Given the description of an element on the screen output the (x, y) to click on. 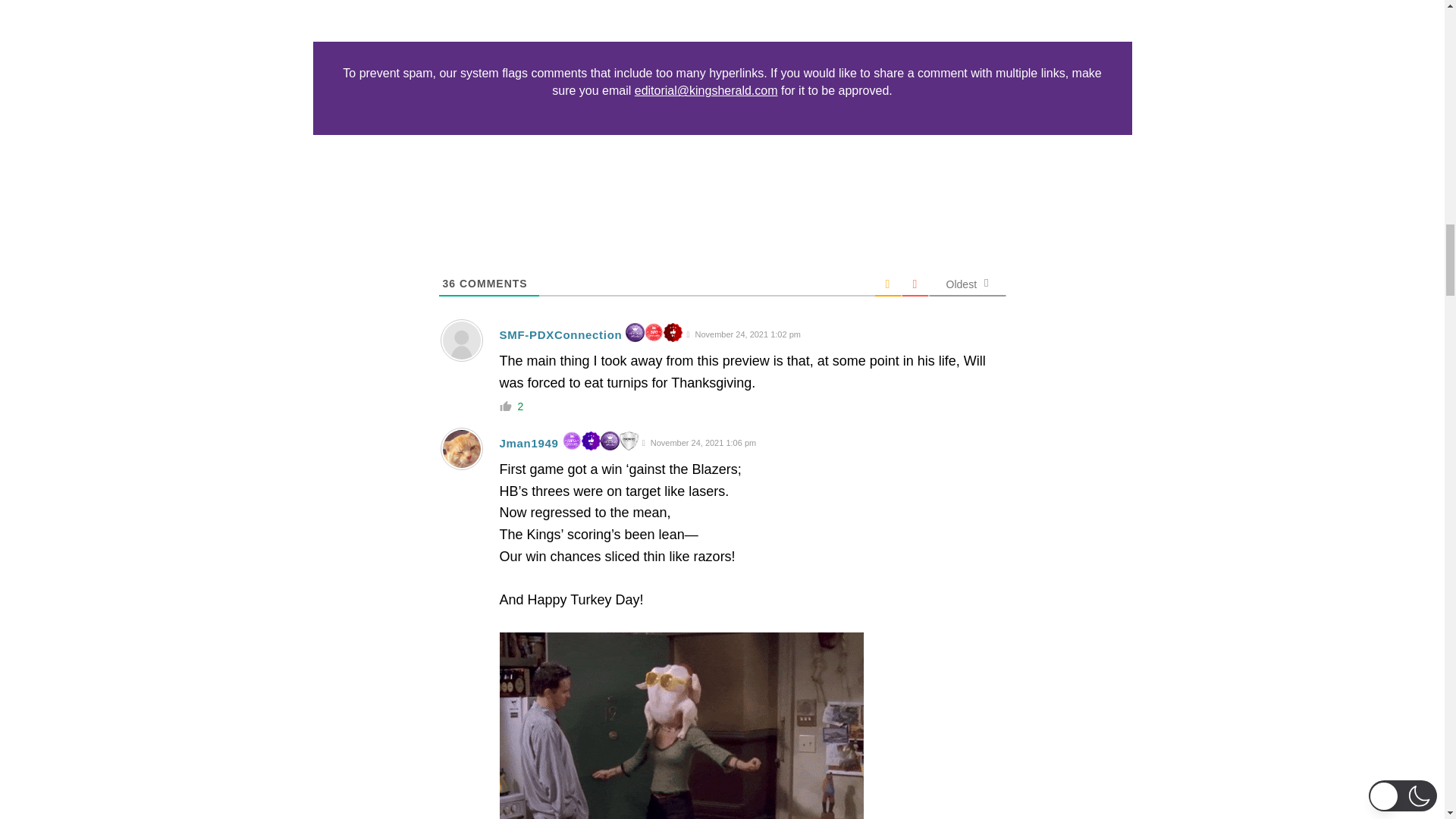
36 (449, 283)
